Given the description of an element on the screen output the (x, y) to click on. 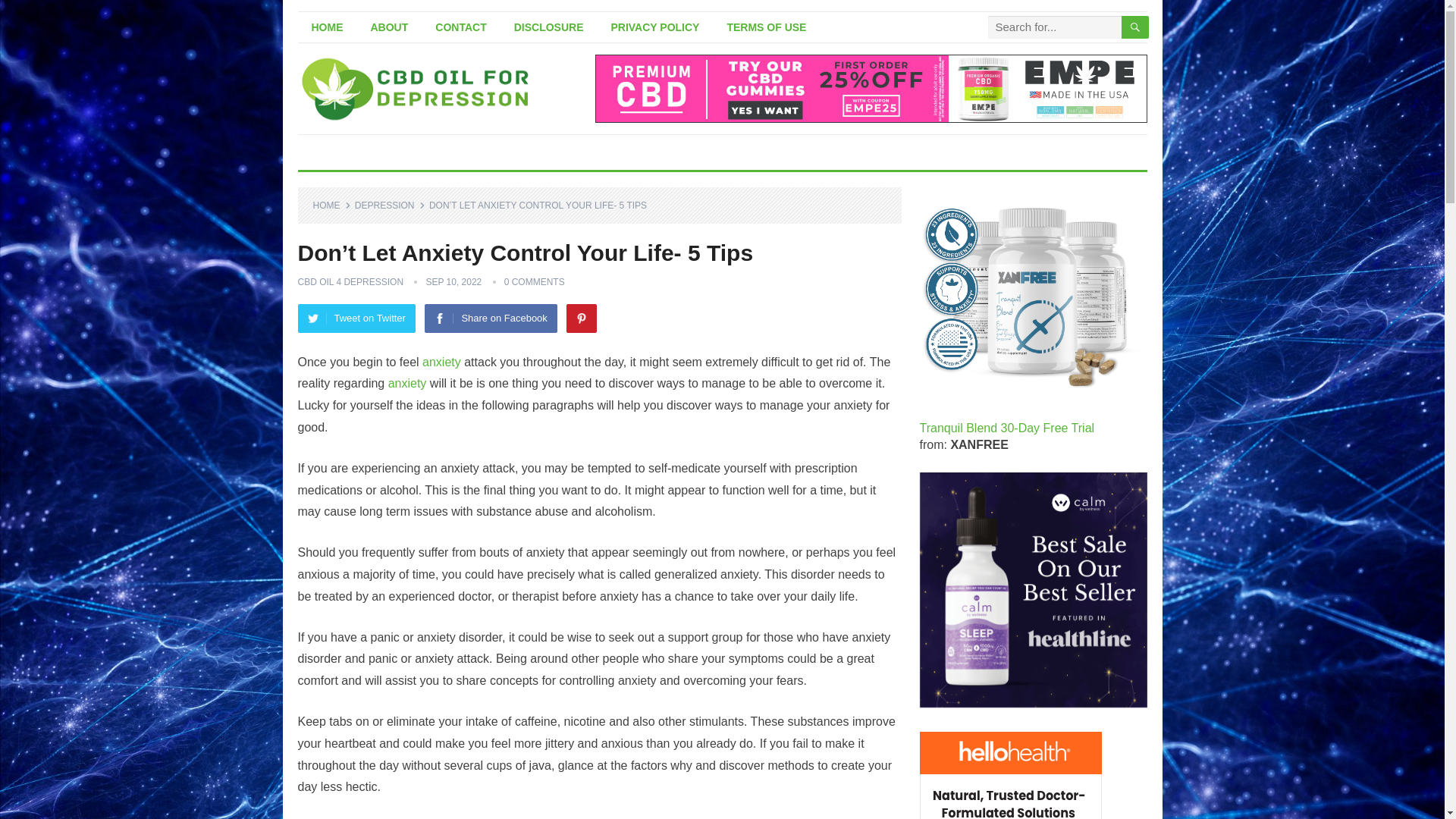
DEPRESSION (390, 204)
View all posts in Depression (390, 204)
ABOUT (389, 27)
Posts by CBD Oil 4 Depression (350, 281)
0 COMMENTS (533, 281)
Pinterest (581, 317)
Posts tagged with anxiety (407, 382)
TERMS OF USE (766, 27)
CONTACT (460, 27)
PRIVACY POLICY (654, 27)
